Given the description of an element on the screen output the (x, y) to click on. 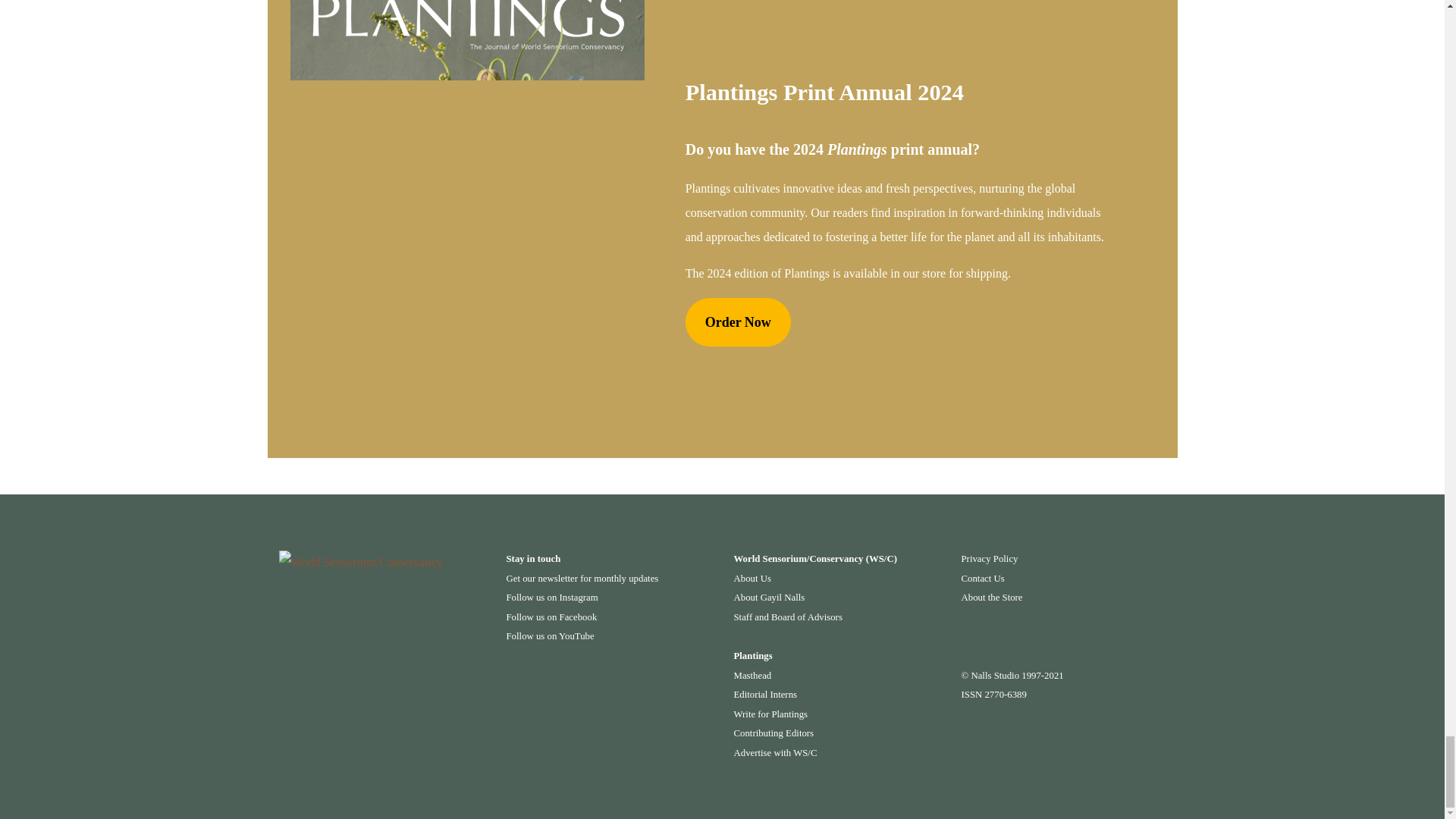
Order Now (737, 322)
